Given the description of an element on the screen output the (x, y) to click on. 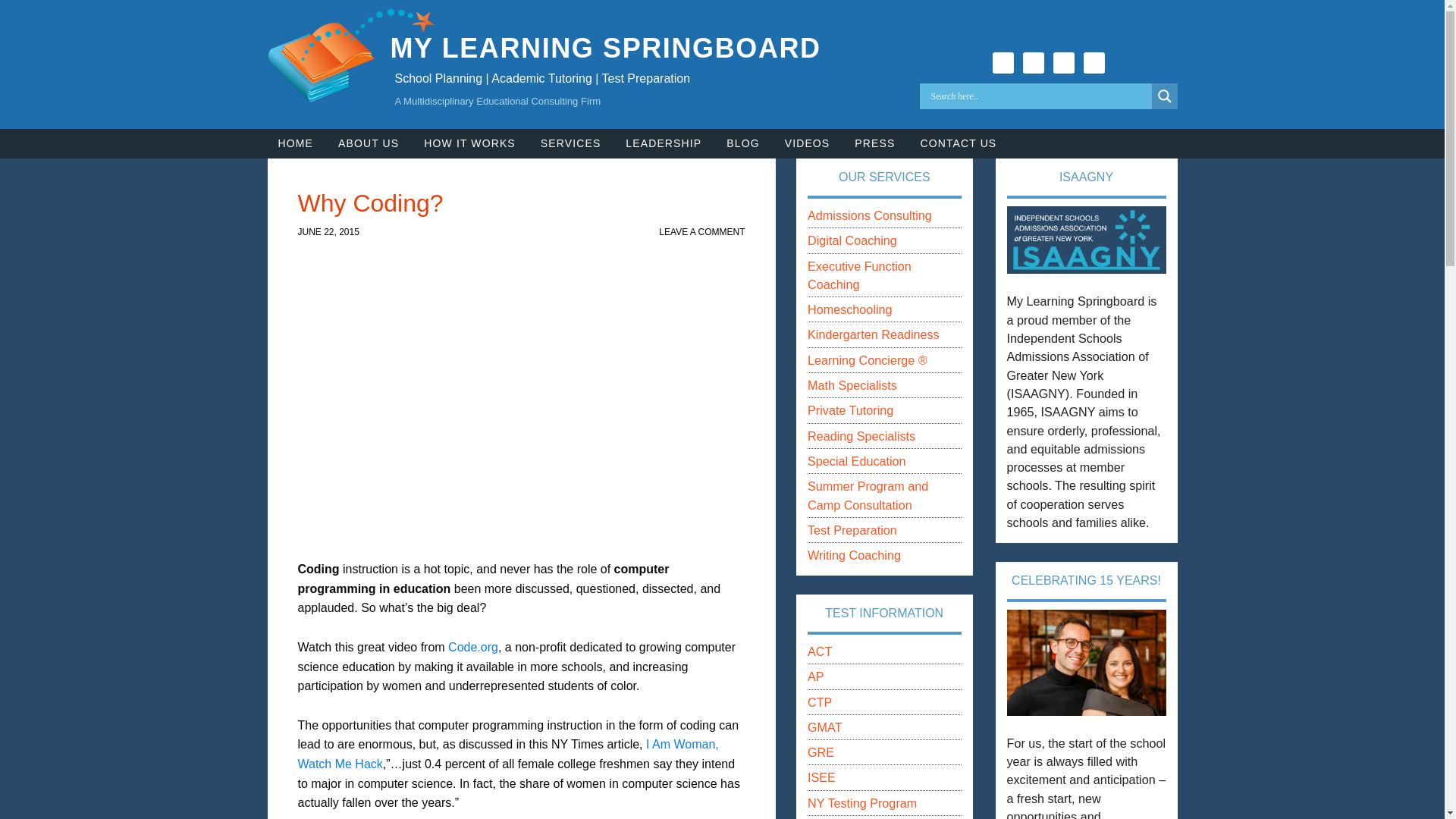
ABOUT US (368, 143)
LEADERSHIP (662, 143)
LEAVE A COMMENT (701, 231)
Educational Consulting Services (570, 143)
I Am Woman, Watch Me Hack (507, 753)
CONTACT US (957, 143)
I Am Woman, Watch Me Hack (507, 753)
PRESS (874, 143)
Code.org (472, 646)
HOME (294, 143)
